Given the description of an element on the screen output the (x, y) to click on. 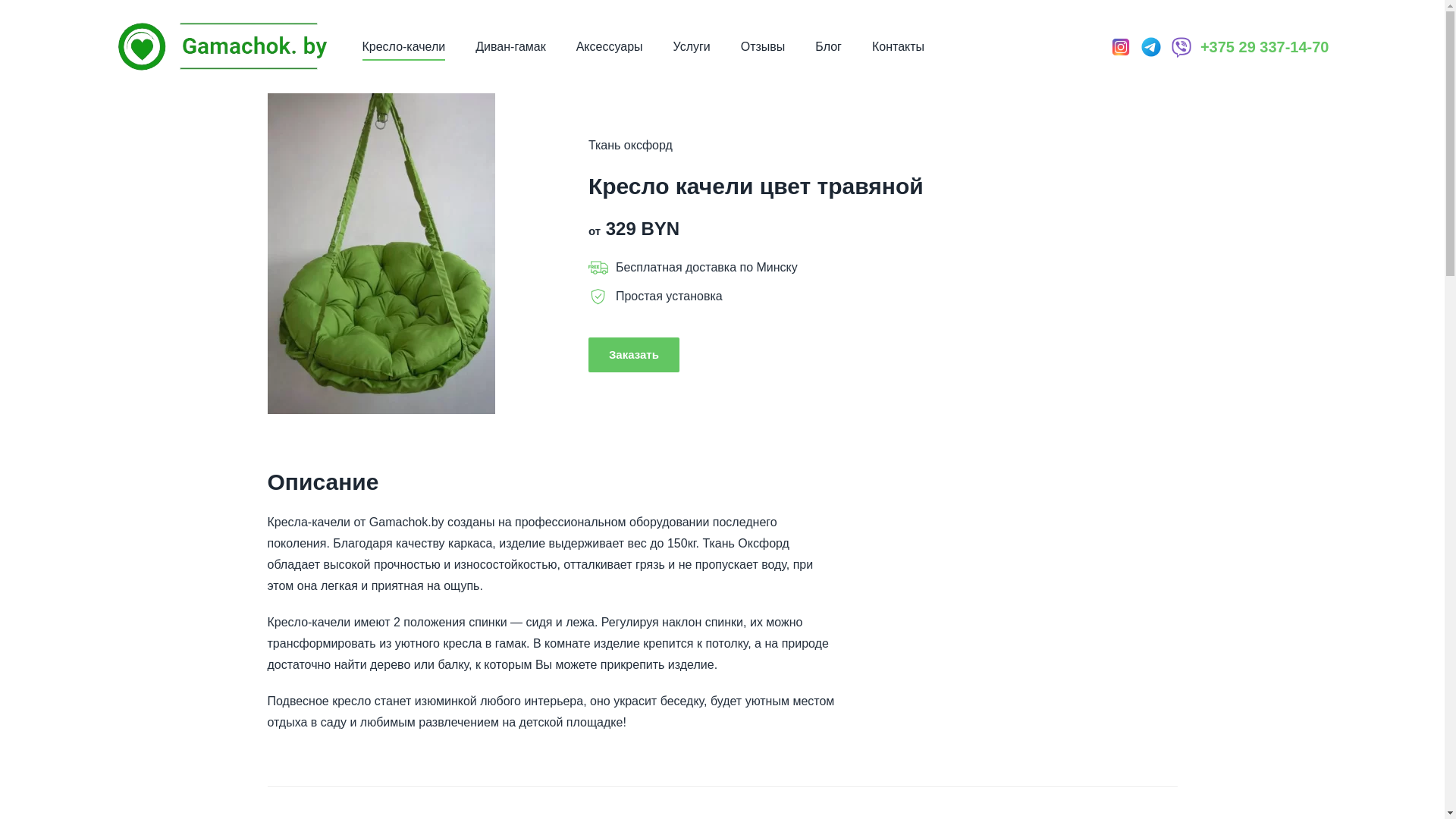
+375 29 337-14-70 Element type: text (1264, 45)
